Given the description of an element on the screen output the (x, y) to click on. 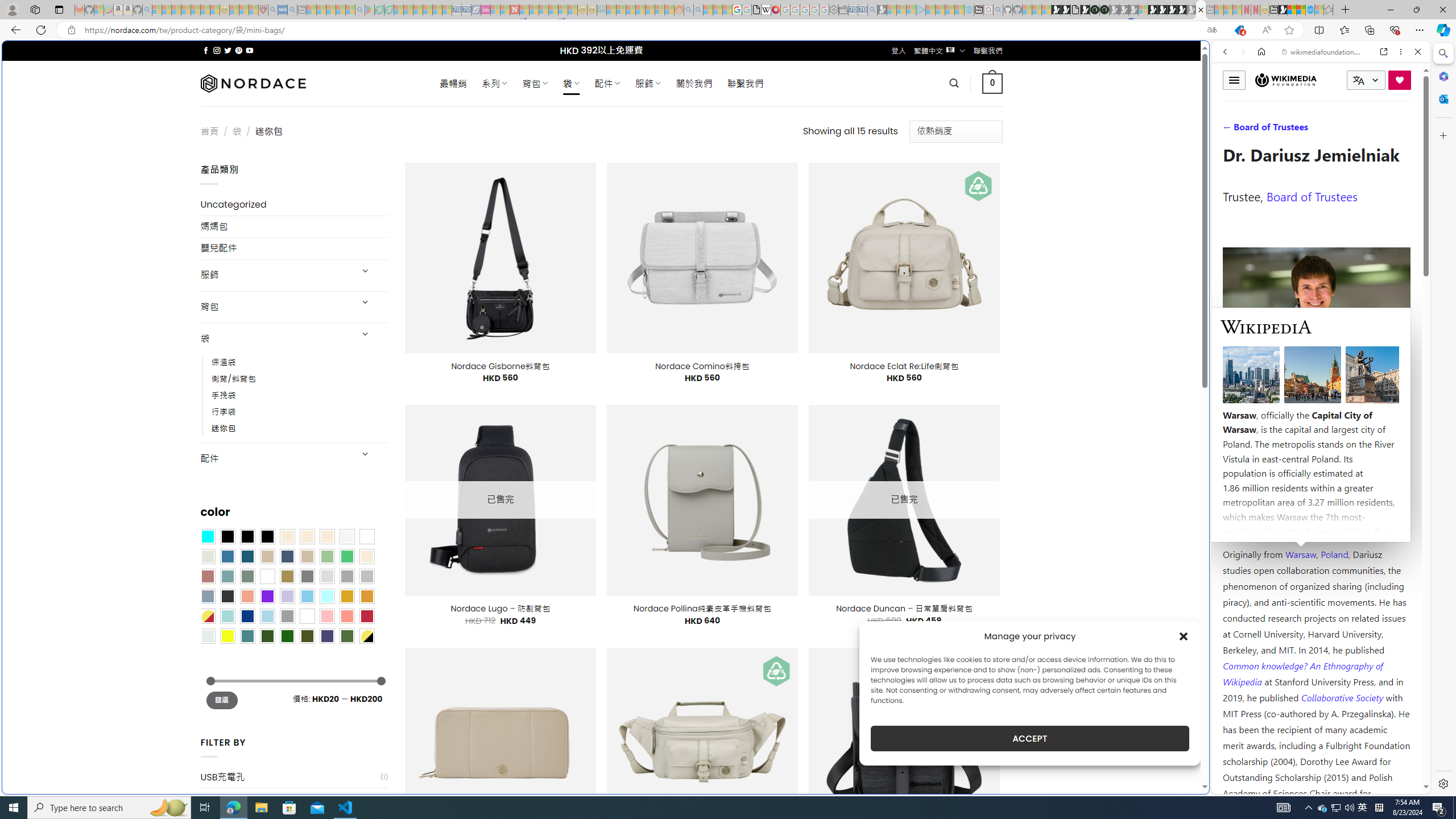
Warsaw (1300, 554)
google - Search - Sleeping (359, 9)
Microsoft-Report a Concern to Bing - Sleeping (98, 9)
Follow on Twitter (227, 50)
